Given the description of an element on the screen output the (x, y) to click on. 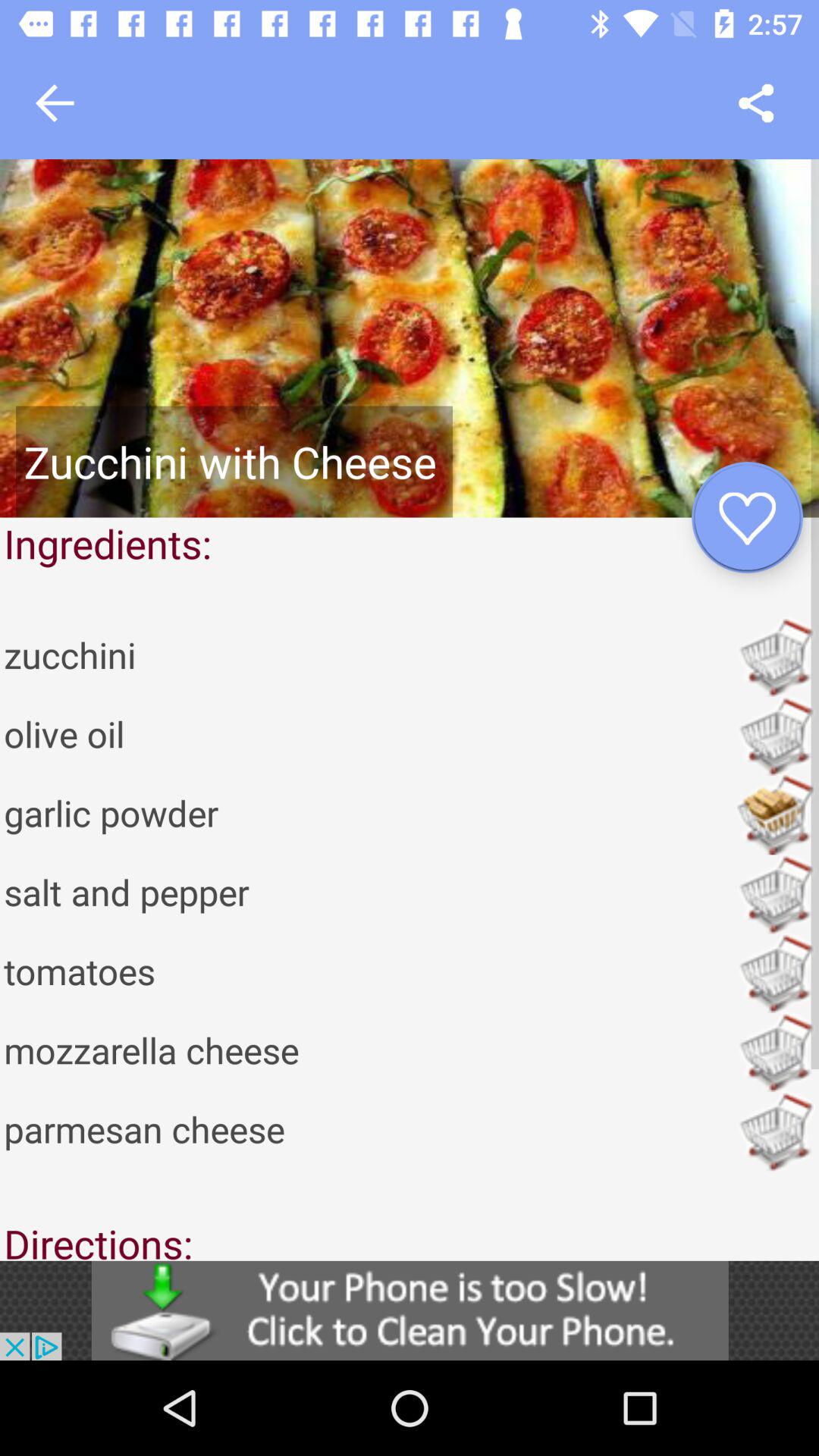
share (756, 103)
